Given the description of an element on the screen output the (x, y) to click on. 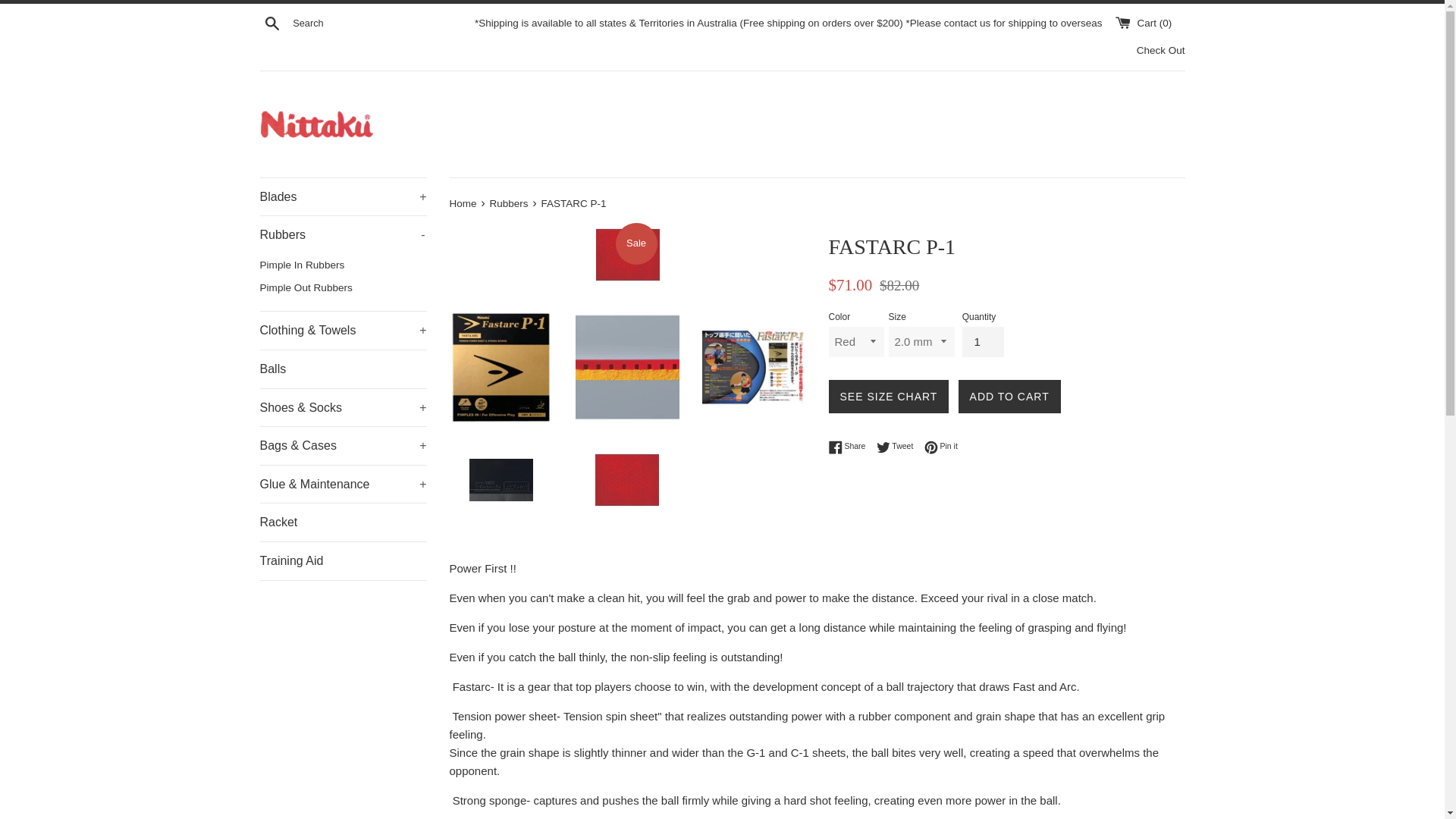
Racket (342, 522)
Share on Facebook (850, 446)
Pin on Pinterest (941, 446)
Pimple Out Rubbers (342, 287)
Home (463, 203)
1 (983, 341)
Back to the frontpage (463, 203)
Pimple In Rubbers (342, 264)
Check Out (1161, 50)
Training Aid (342, 560)
Rubbers (510, 203)
Search (271, 21)
Tweet on Twitter (898, 446)
Balls (342, 234)
